Given the description of an element on the screen output the (x, y) to click on. 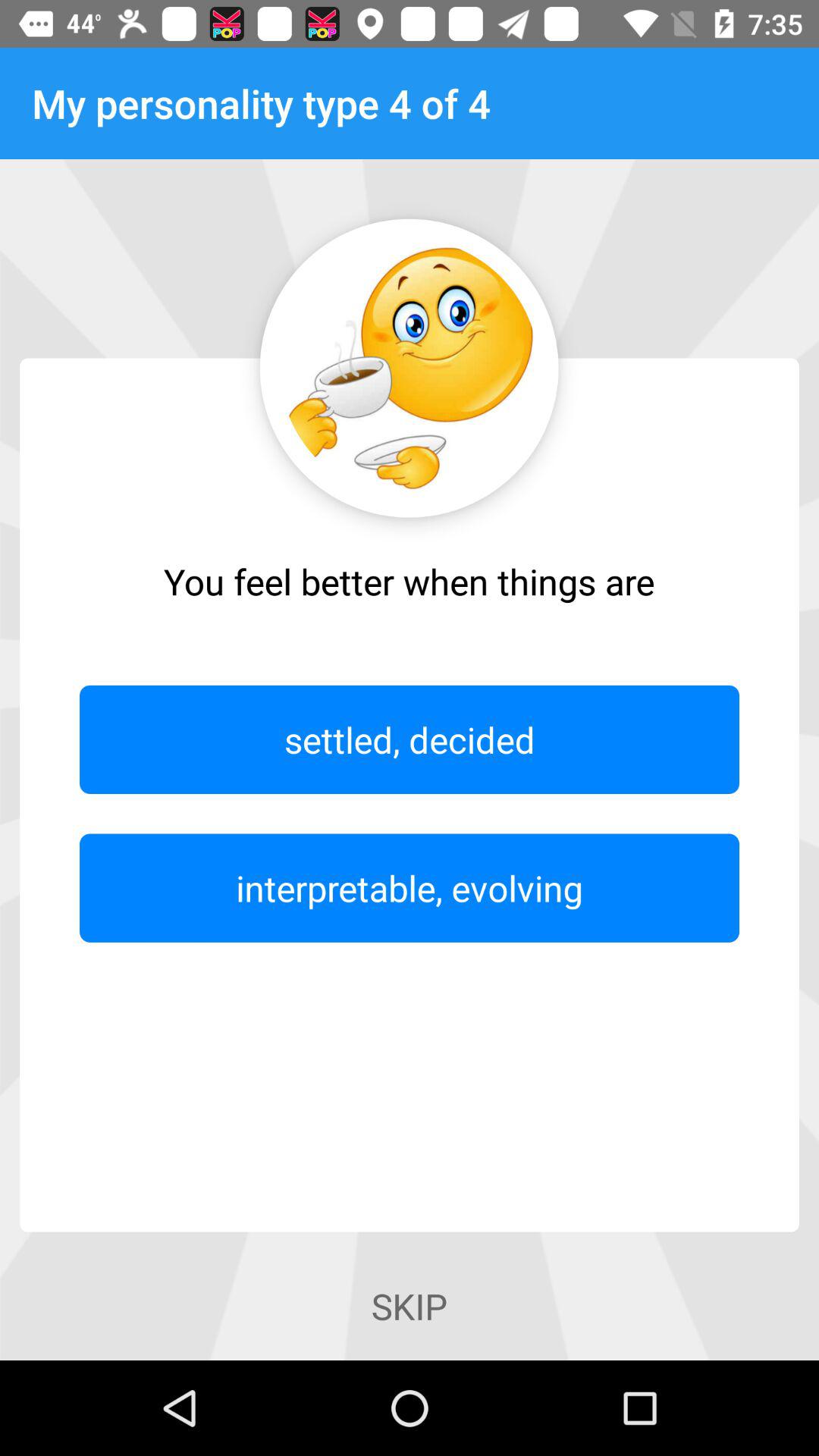
turn on the item below the you feel better item (409, 739)
